Given the description of an element on the screen output the (x, y) to click on. 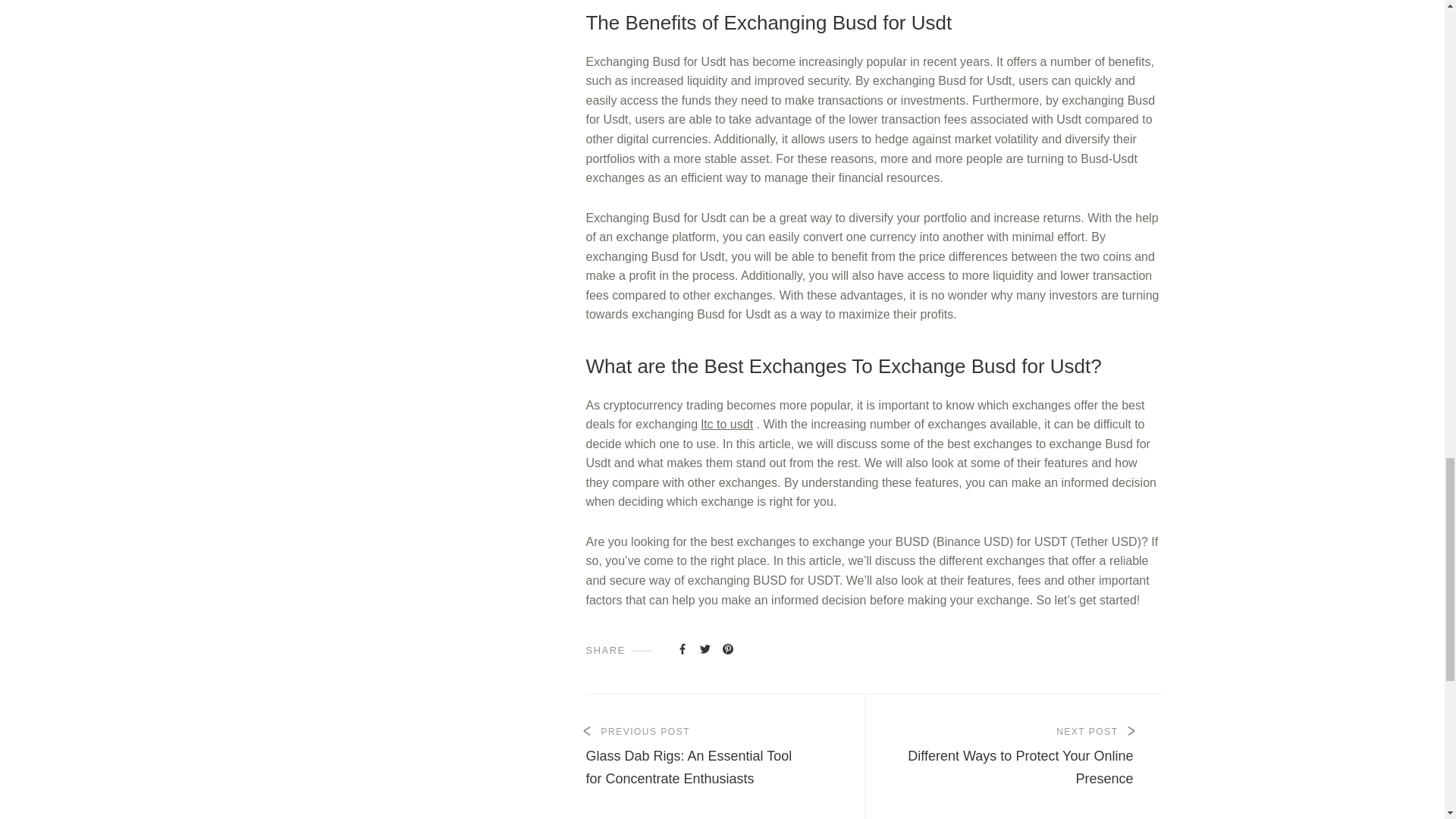
ltc to usdt (1024, 757)
